Given the description of an element on the screen output the (x, y) to click on. 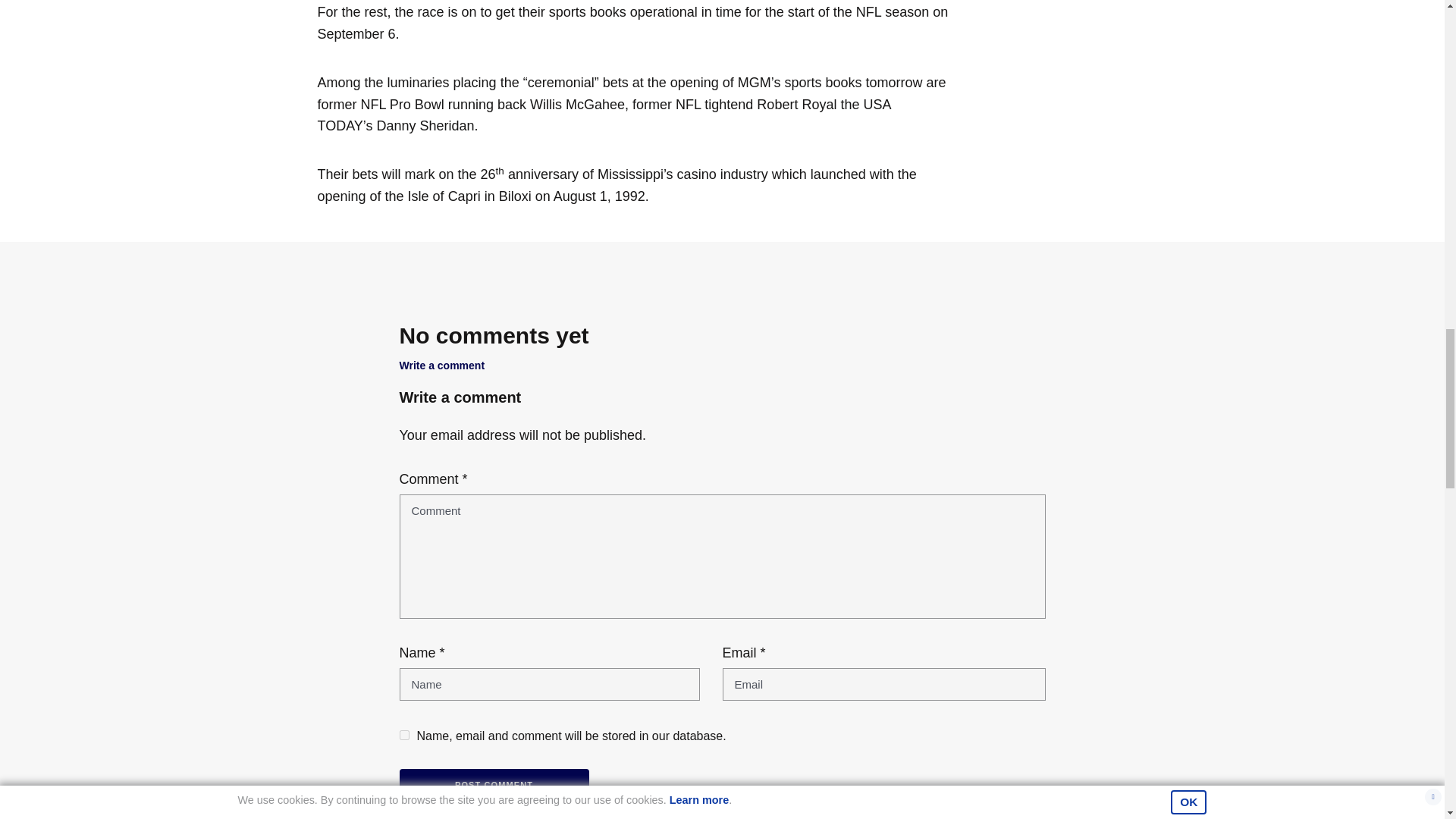
yes (403, 735)
Post Comment (493, 785)
